Given the description of an element on the screen output the (x, y) to click on. 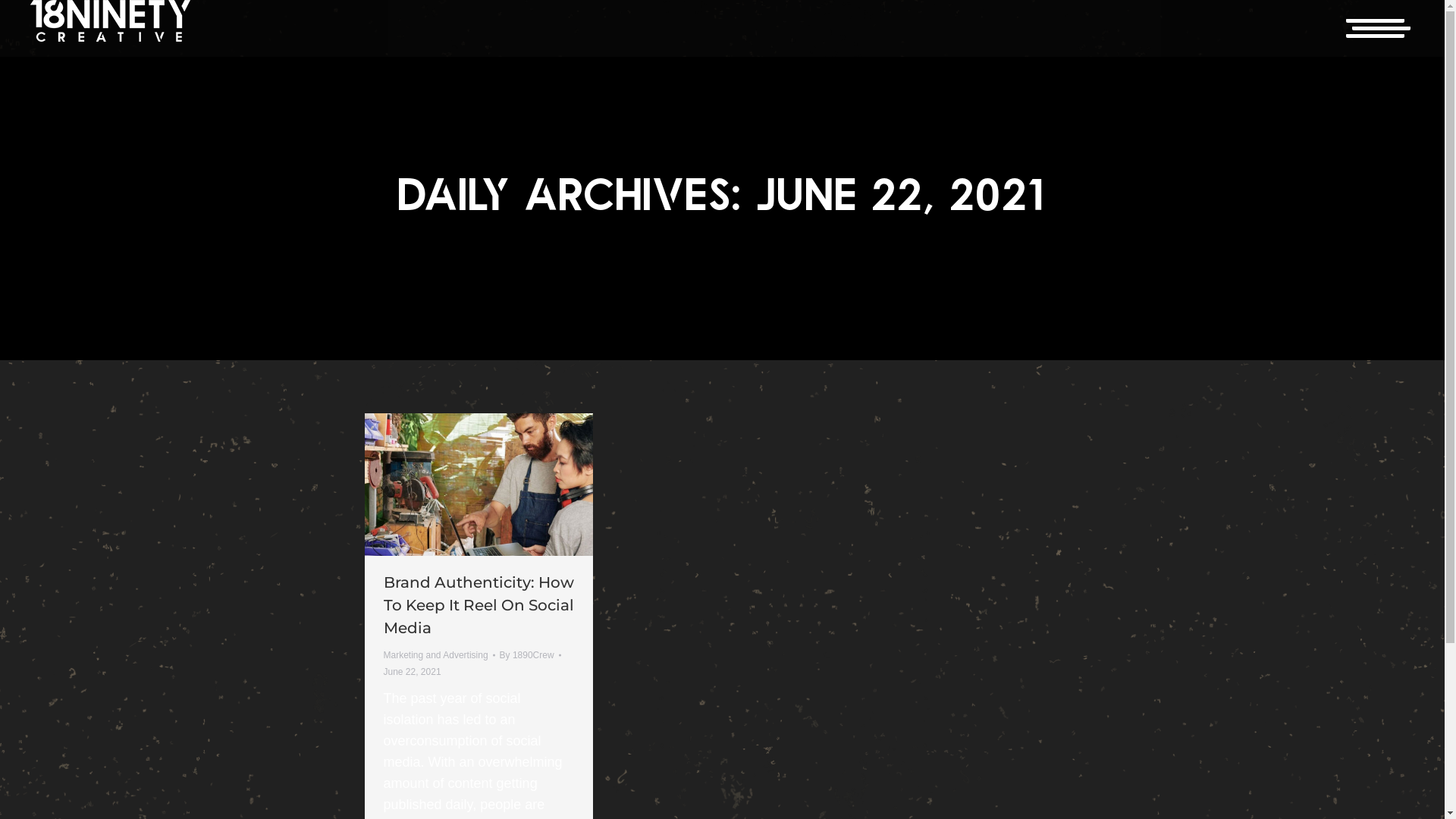
June 22, 2021 Element type: text (412, 671)
Authentic+Social+Media+graphic-featured Element type: hover (478, 484)
Marketing and Advertising Element type: text (435, 654)
Brand Authenticity: How To Keep It Reel On Social Media Element type: text (478, 605)
By 1890Crew Element type: text (530, 654)
